Given the description of an element on the screen output the (x, y) to click on. 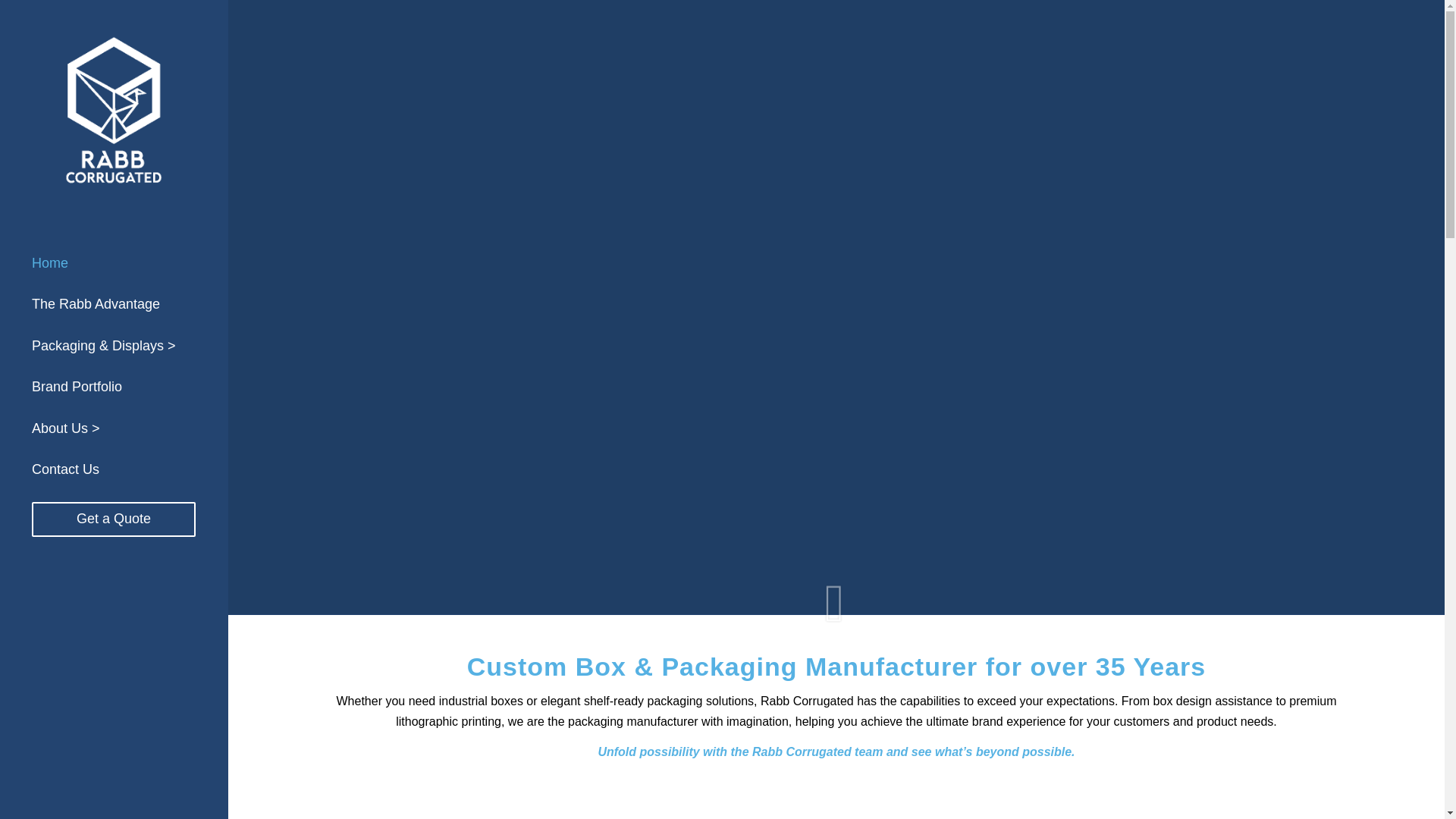
Rabb White Logo (113, 113)
Brand Portfolio (113, 386)
Contact Us (113, 469)
Get a Quote (113, 518)
Home (113, 263)
The Rabb Advantage (113, 304)
